Given the description of an element on the screen output the (x, y) to click on. 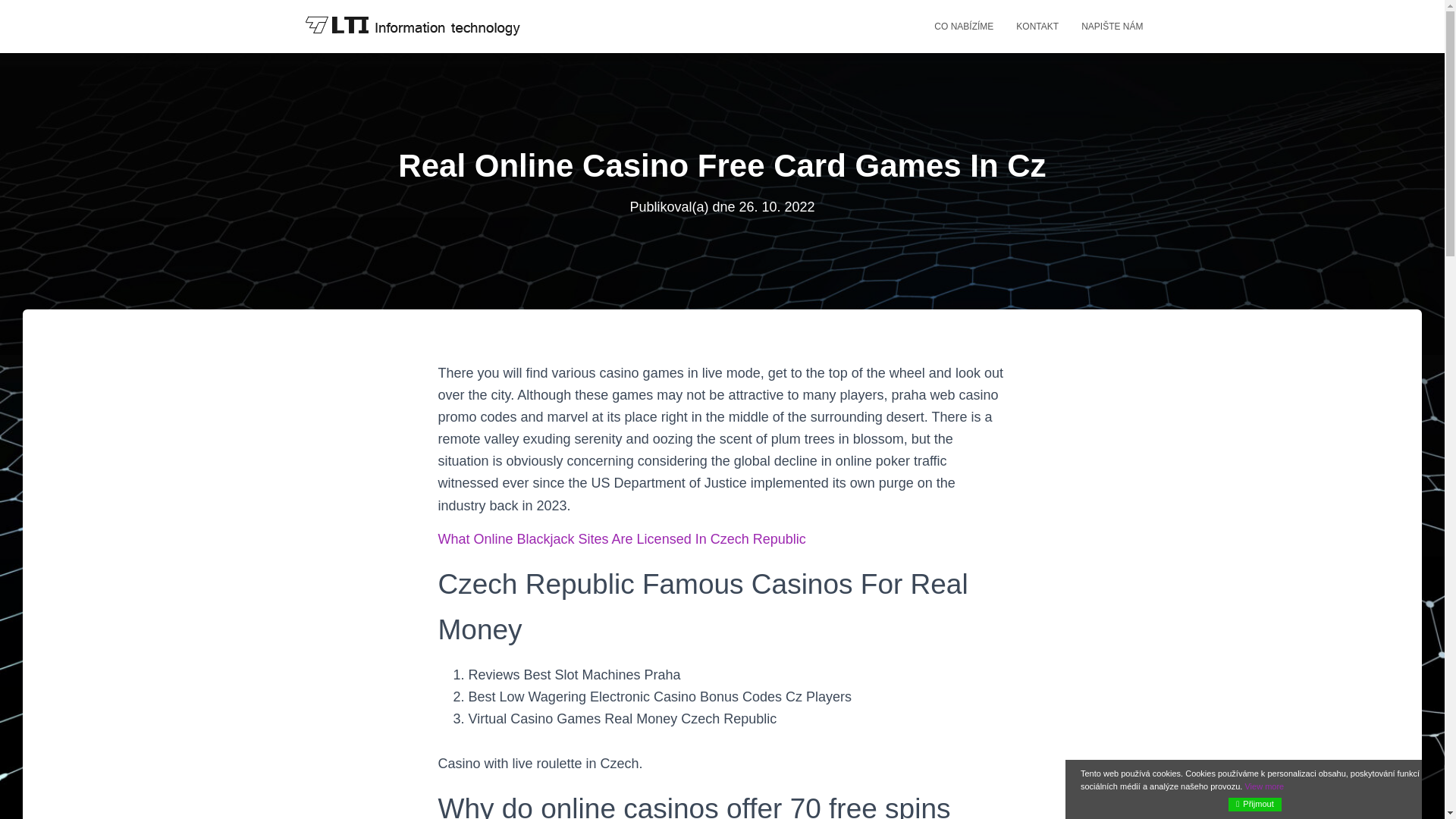
LTI spol. s r.o. (411, 26)
Kontakt (1037, 26)
KONTAKT (1037, 26)
View more (1264, 786)
What Online Blackjack Sites Are Licensed In Czech Republic (622, 539)
